Given the description of an element on the screen output the (x, y) to click on. 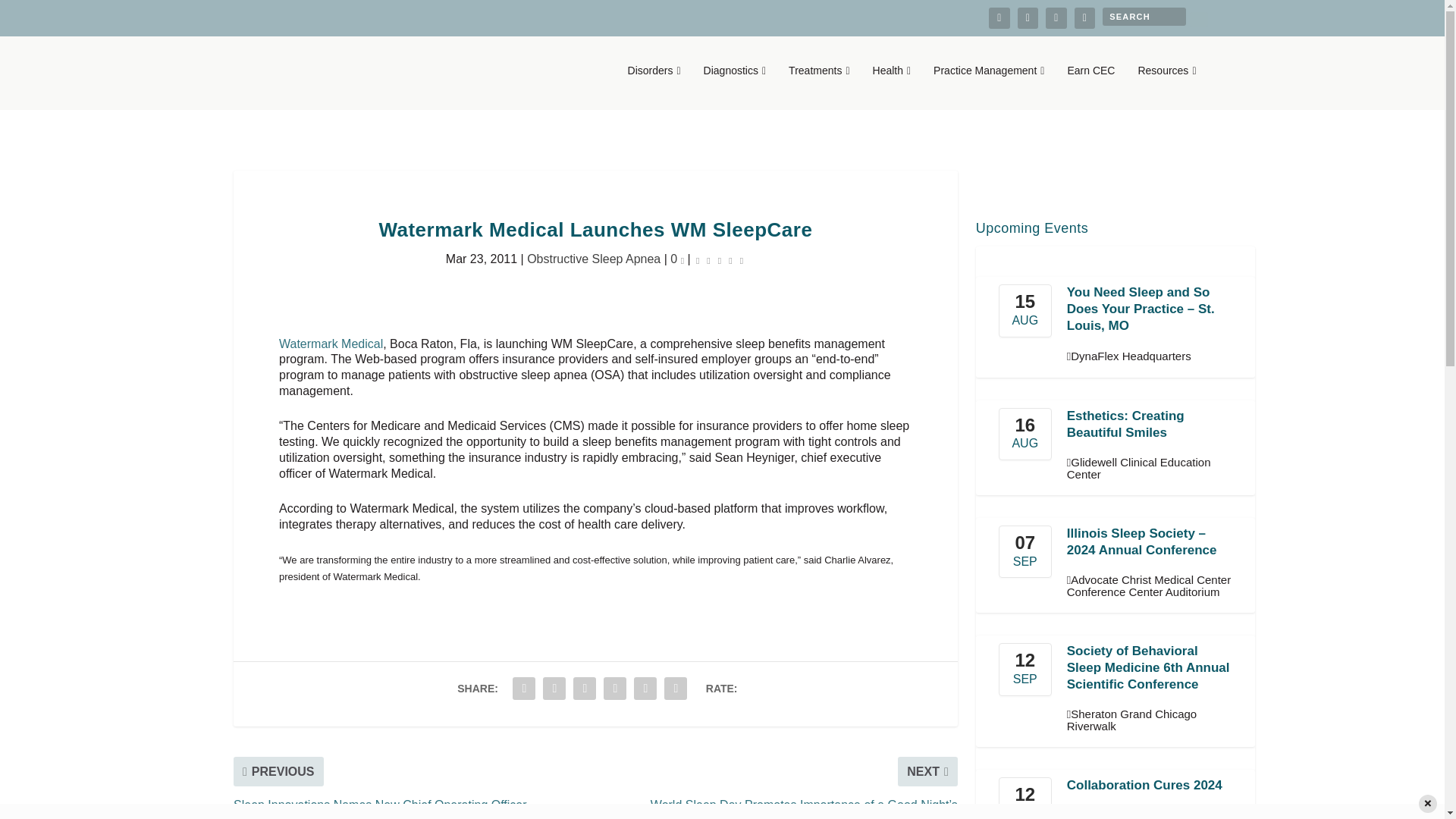
Share "Watermark Medical Launches WM SleepCare" via Twitter (553, 688)
Disorders (654, 86)
Earn CEC (1091, 86)
Treatments (818, 86)
Resources (1166, 86)
Share "Watermark Medical Launches WM SleepCare" via Facebook (523, 688)
Rating: 0.00 (719, 259)
Search for: (1144, 16)
Diagnostics (735, 86)
Share "Watermark Medical Launches WM SleepCare" via Email (645, 688)
Share "Watermark Medical Launches WM SleepCare" via LinkedIn (614, 688)
Share "Watermark Medical Launches WM SleepCare" via Print (675, 688)
Practice Management (988, 86)
